Given the description of an element on the screen output the (x, y) to click on. 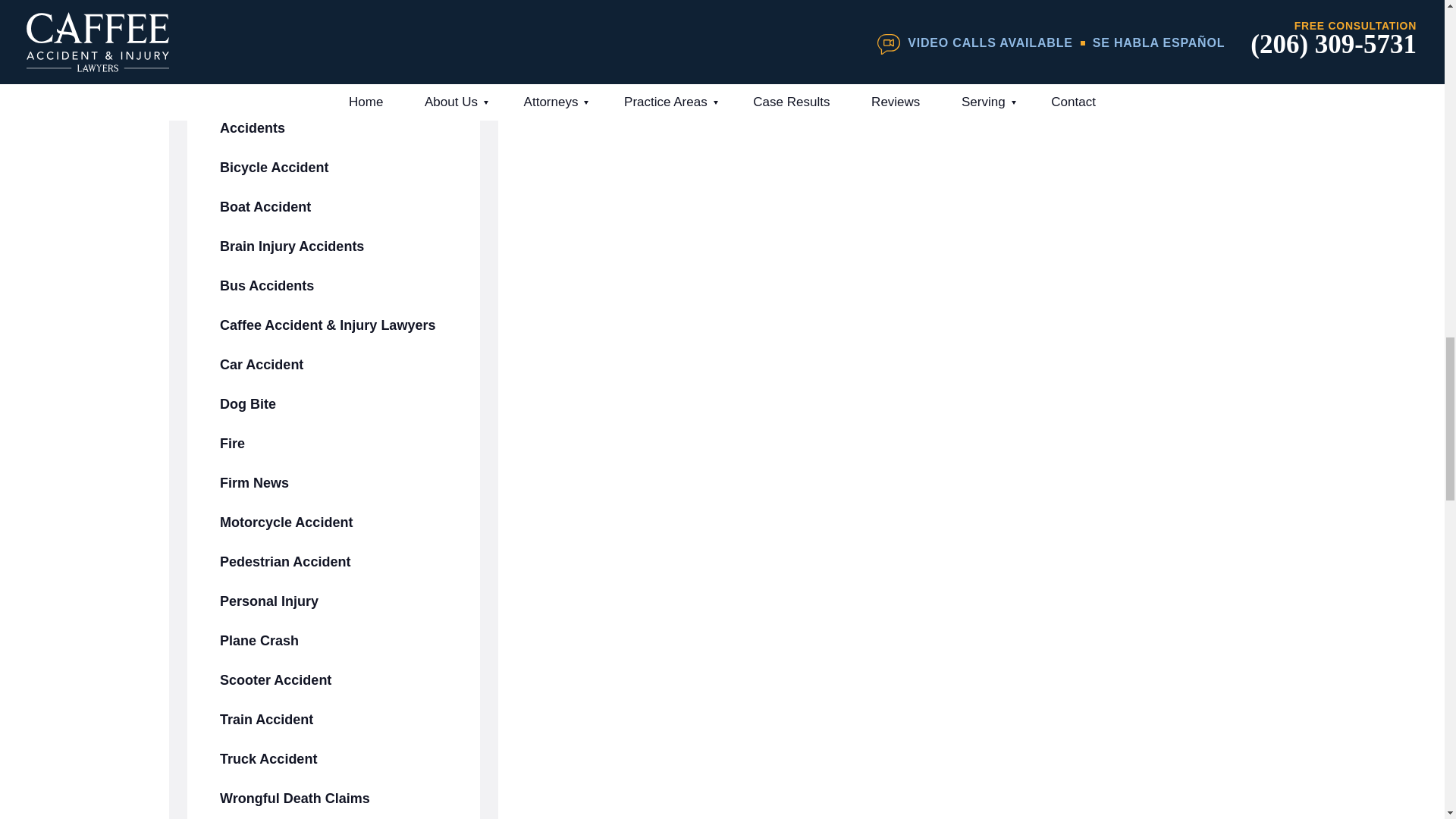
Bicycle Accident (333, 167)
Accidents (333, 128)
